Given the description of an element on the screen output the (x, y) to click on. 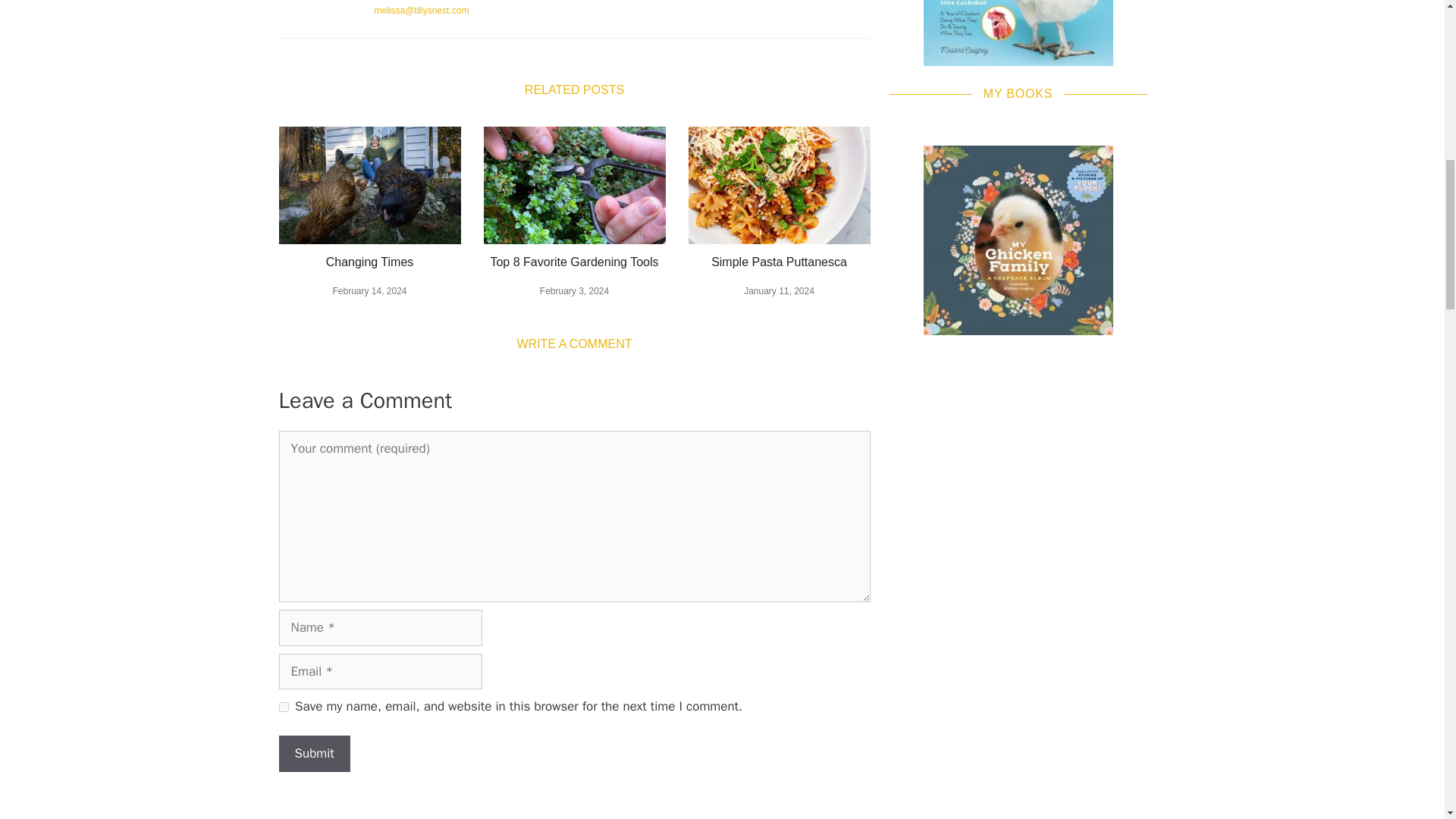
2c3469e4e66742b34497e96e324482e5 (370, 185)
Caughey-Puttnesca (779, 185)
Original-Caughey-Melissa-snippingthymefromthegarden (574, 185)
yes (283, 706)
Submit (314, 753)
